Given the description of an element on the screen output the (x, y) to click on. 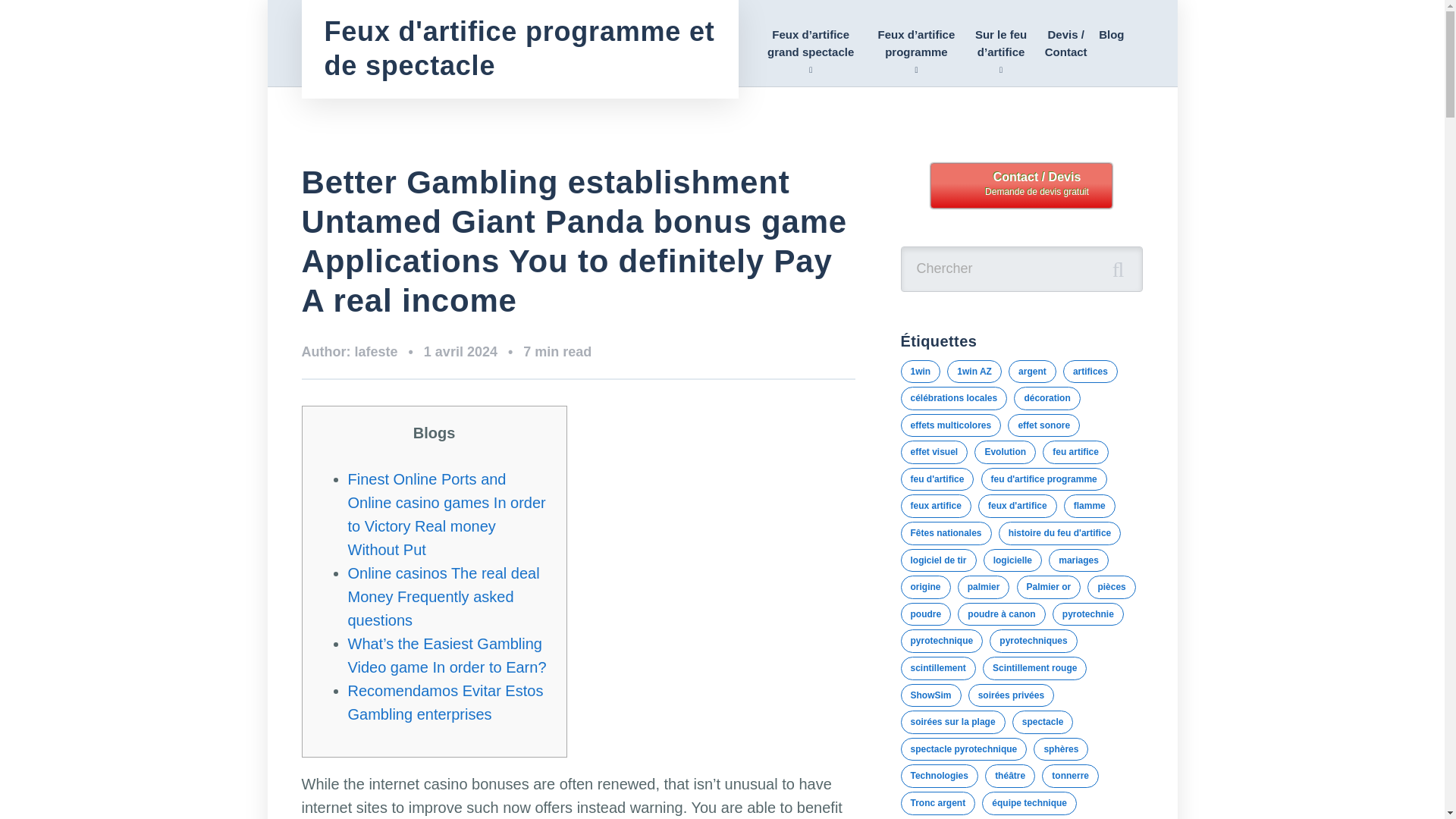
1 avril 2024 (472, 352)
Feux d'artifice programme et de spectacle (520, 49)
Recomendamos Evitar Estos Gambling enterprises (445, 702)
